Given the description of an element on the screen output the (x, y) to click on. 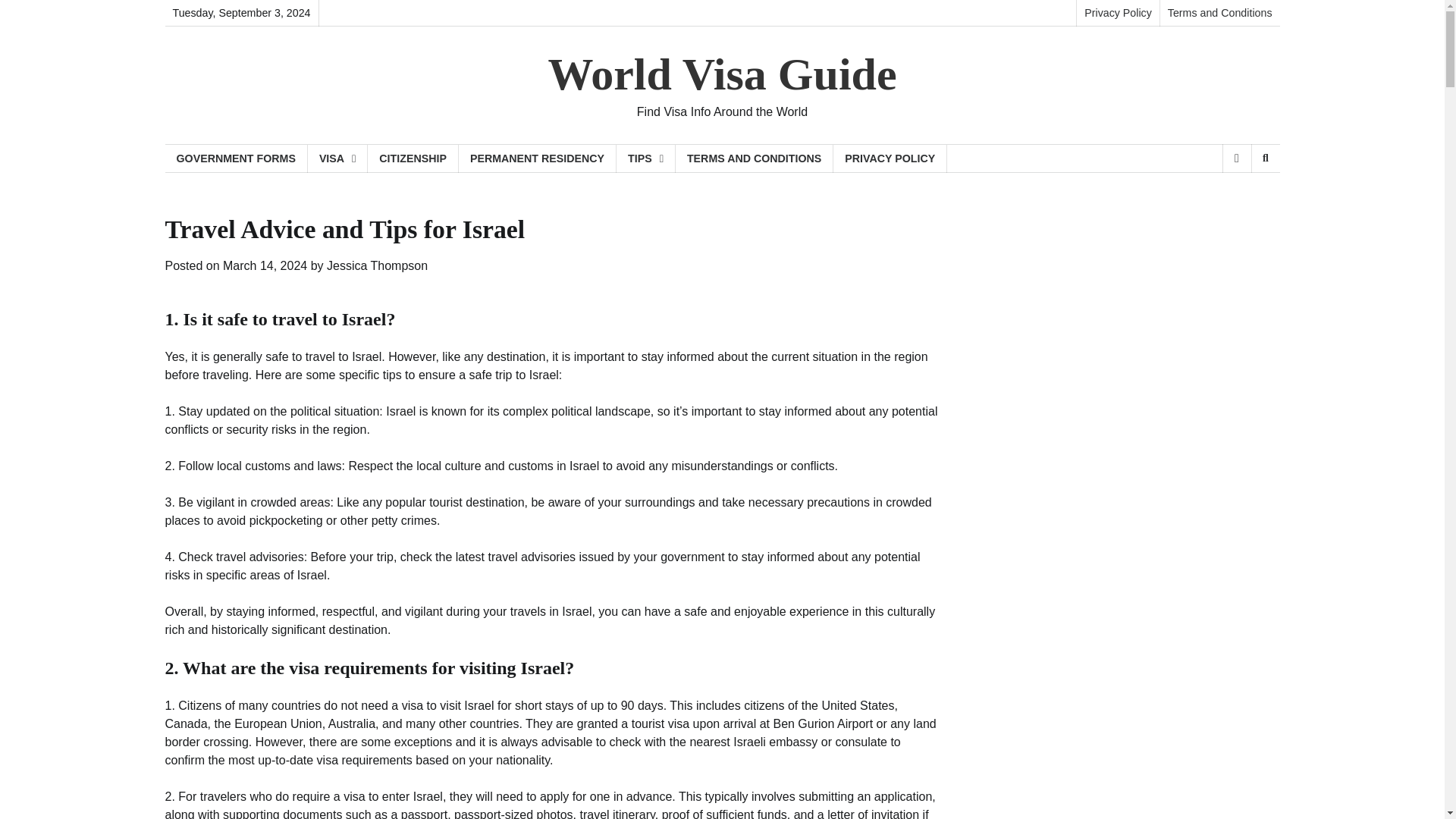
March 14, 2024 (264, 265)
Terms and Conditions (1218, 13)
VISA (337, 158)
TIPS (645, 158)
Search (1240, 197)
View Random Post (1236, 158)
PERMANENT RESIDENCY (536, 158)
CITIZENSHIP (413, 158)
PRIVACY POLICY (889, 158)
World Visa Guide (721, 74)
